Given the description of an element on the screen output the (x, y) to click on. 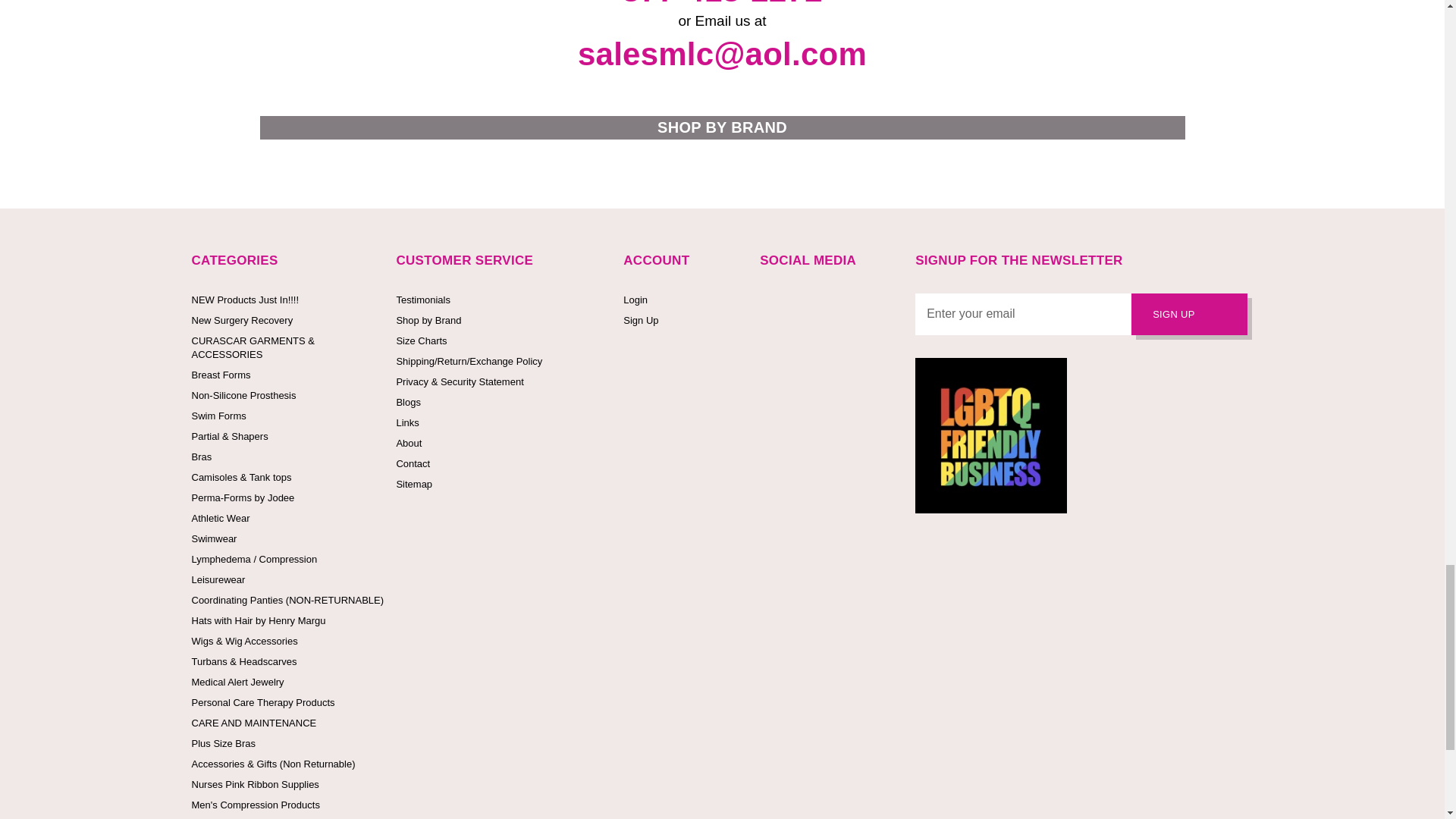
Sign Up (1189, 313)
Twitter (801, 301)
Facebook (768, 301)
